Given the description of an element on the screen output the (x, y) to click on. 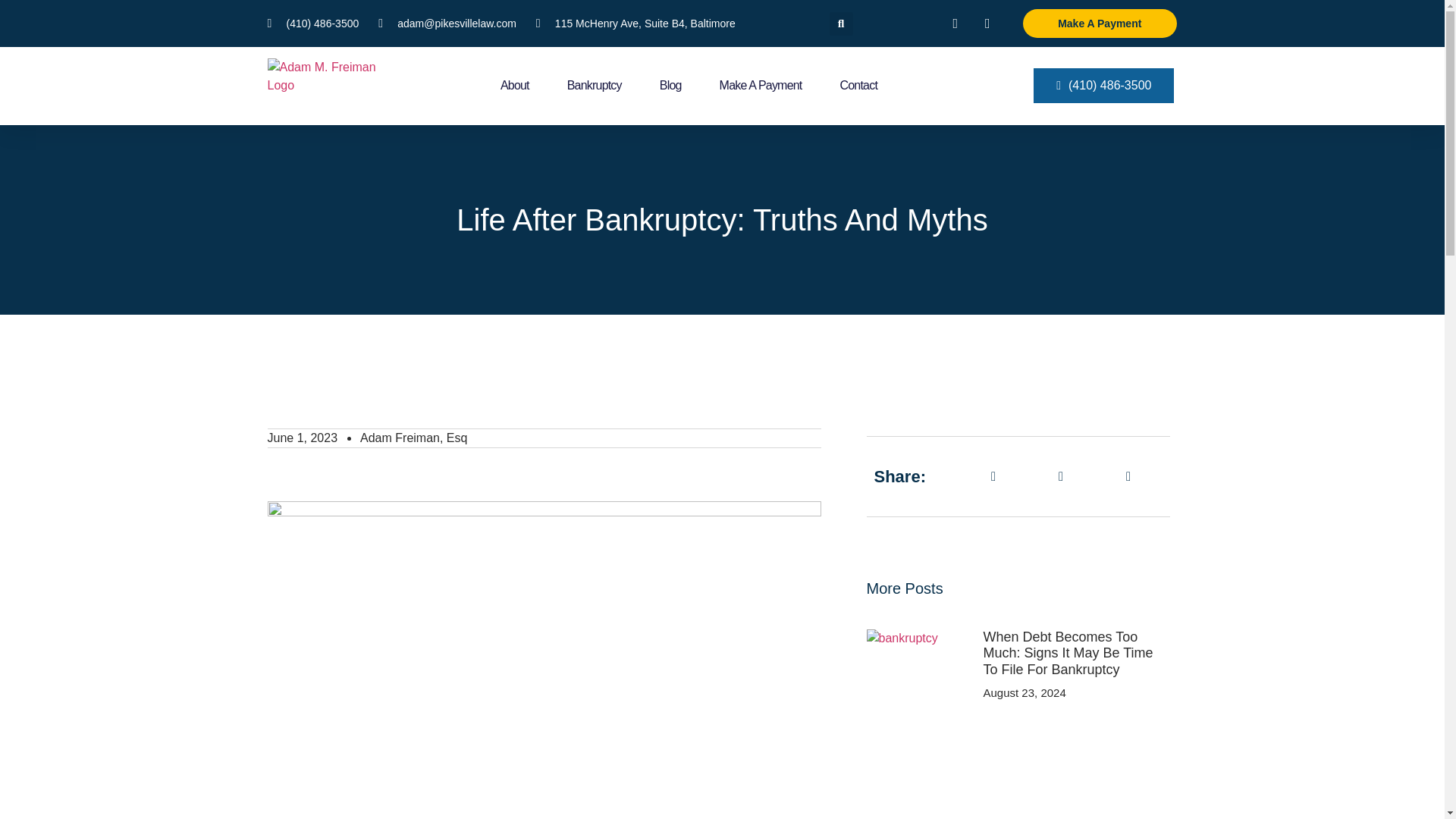
Contact (858, 85)
Bankruptcy (594, 85)
June 1, 2023 (301, 438)
Make A Payment (1099, 23)
Adam Freiman, Esq (413, 438)
Make A Payment (760, 85)
